Given the description of an element on the screen output the (x, y) to click on. 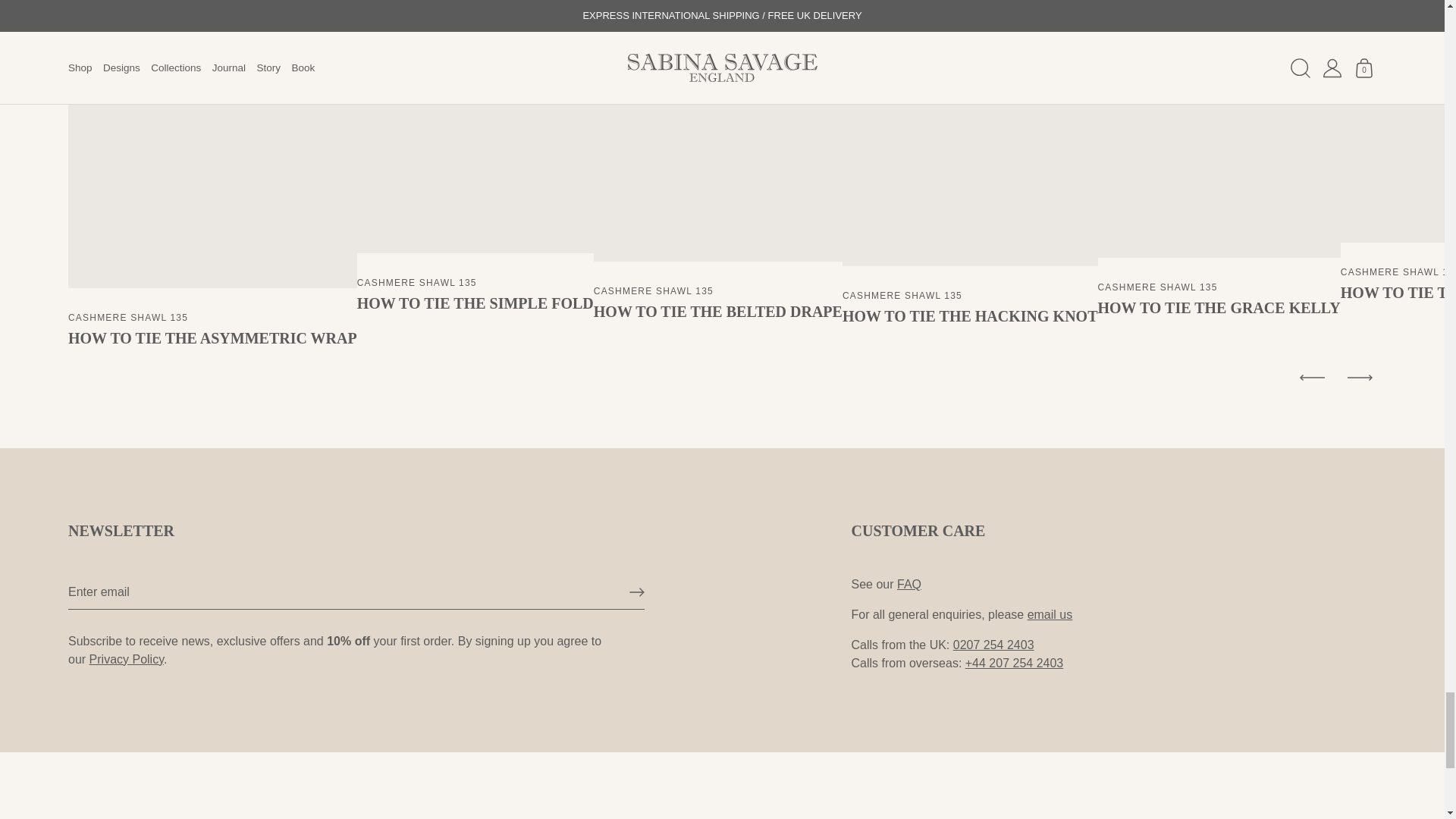
RIGHT ARROW LONG (636, 591)
